Given the description of an element on the screen output the (x, y) to click on. 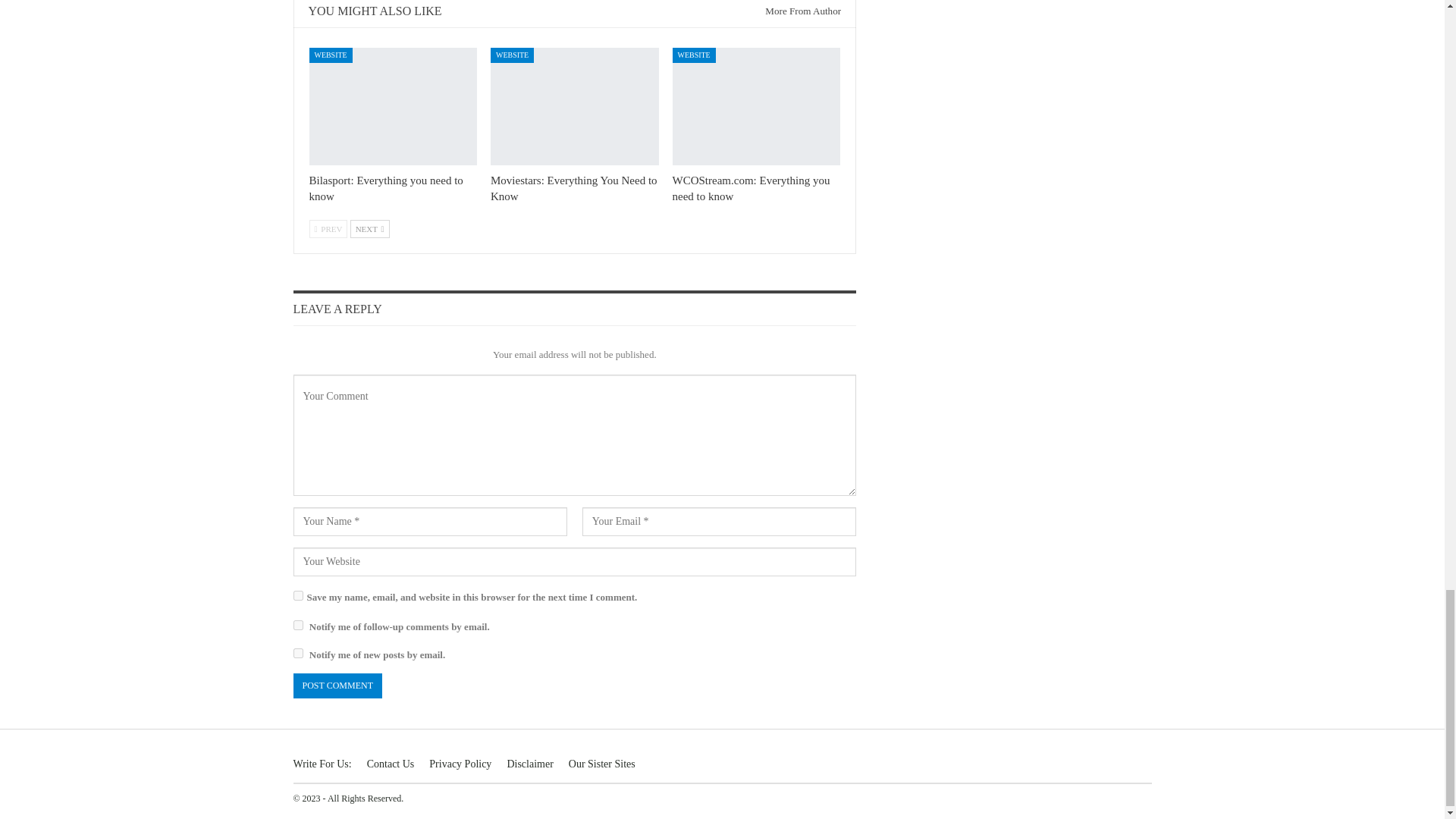
Post Comment (336, 685)
subscribe (297, 653)
Bilasport: Everything you need to know (392, 106)
yes (297, 595)
Bilasport: Everything you need to know (385, 188)
subscribe (297, 624)
